Given the description of an element on the screen output the (x, y) to click on. 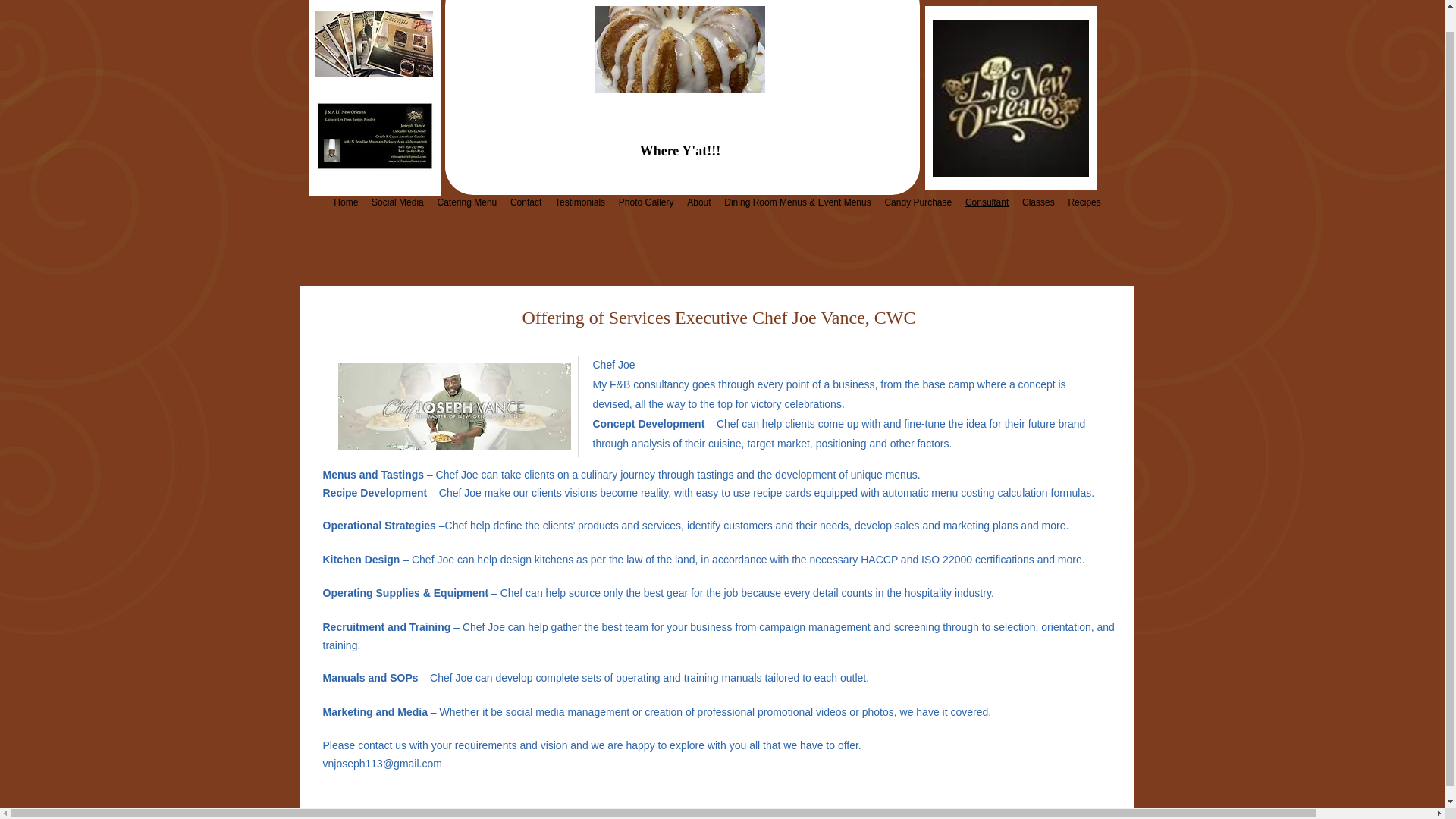
About (698, 202)
Classes (1037, 202)
Contact (525, 202)
Photo Gallery (645, 202)
Testimonials (579, 202)
Candy Purchase (917, 202)
Home (346, 202)
Catering Menu (466, 202)
Consultant (986, 202)
Social Media (397, 202)
Recipes (1084, 202)
